Given the description of an element on the screen output the (x, y) to click on. 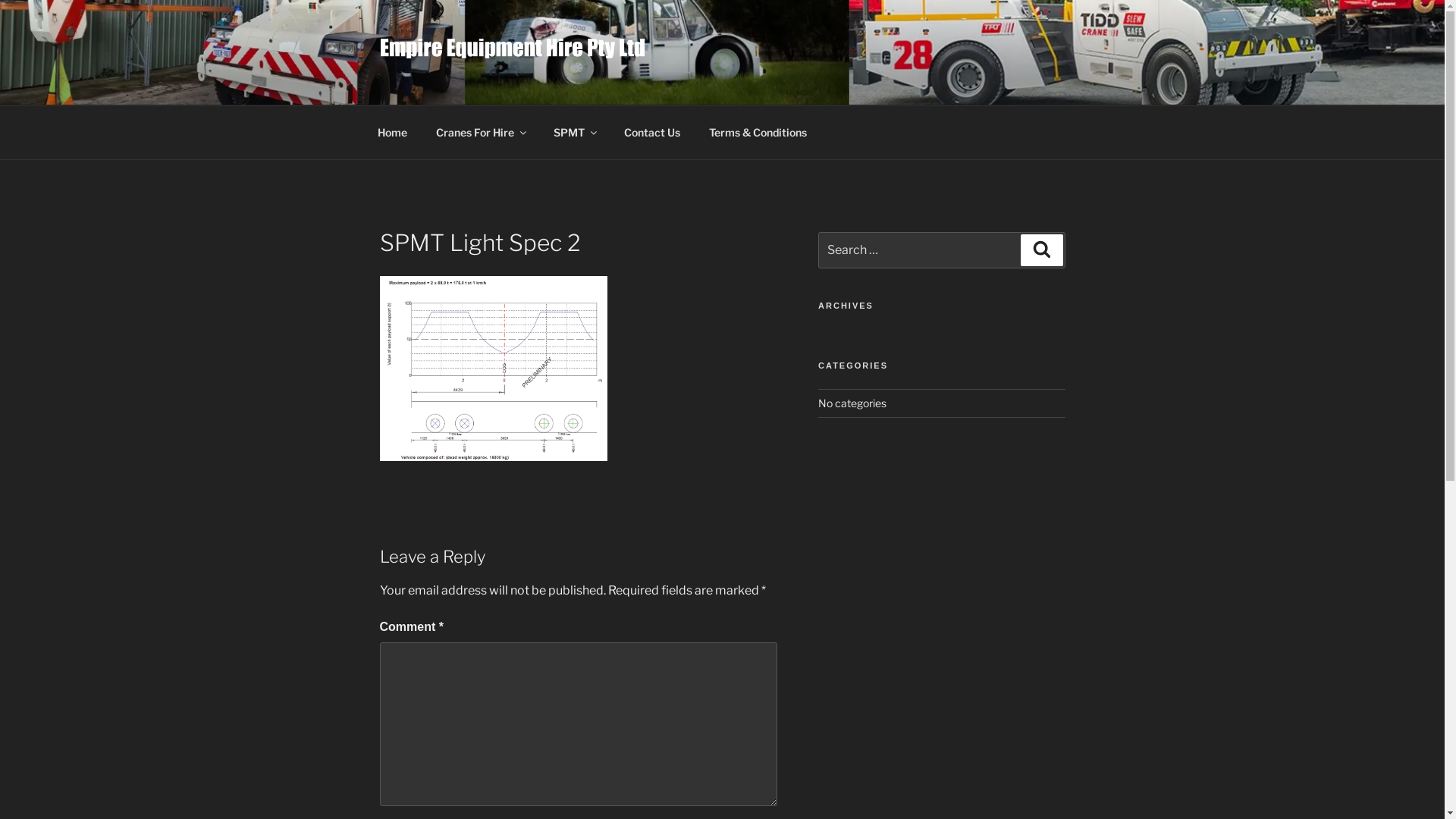
SPMT Element type: text (573, 131)
Home Element type: text (392, 131)
Search Element type: text (1041, 249)
Contact Us Element type: text (652, 131)
Terms & Conditions Element type: text (758, 131)
Cranes For Hire Element type: text (480, 131)
